Given the description of an element on the screen output the (x, y) to click on. 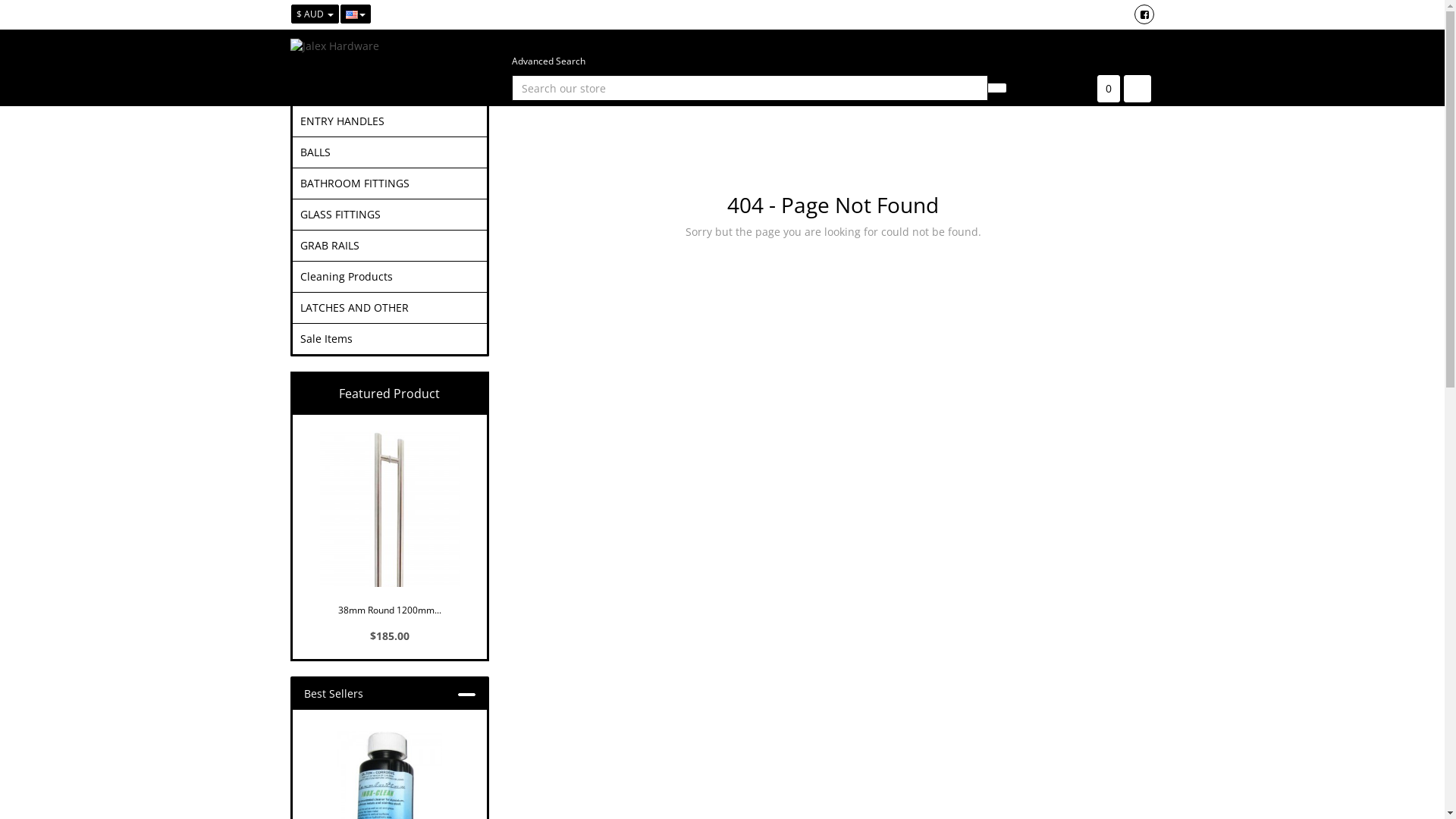
38mm Round 1200mm... Element type: text (389, 607)
BALLS Element type: text (389, 152)
Sale Items Element type: text (389, 338)
0 Element type: text (1107, 88)
38mm Round 1200mm Stainless Steel Door Handles  Element type: hover (389, 523)
ENTRY HANDLES Element type: text (389, 121)
BATHROOM FITTINGS Element type: text (389, 183)
GRAB RAILS Element type: text (389, 245)
LATCHES AND OTHER Element type: text (389, 307)
Search Element type: text (997, 87)
$ AUD Element type: text (314, 13)
Cleaning Products Element type: text (389, 276)
GLASS FITTINGS Element type: text (389, 214)
Facebook Element type: hover (1144, 14)
Advanced Search Element type: text (548, 60)
English (US) Element type: hover (354, 13)
